Given the description of an element on the screen output the (x, y) to click on. 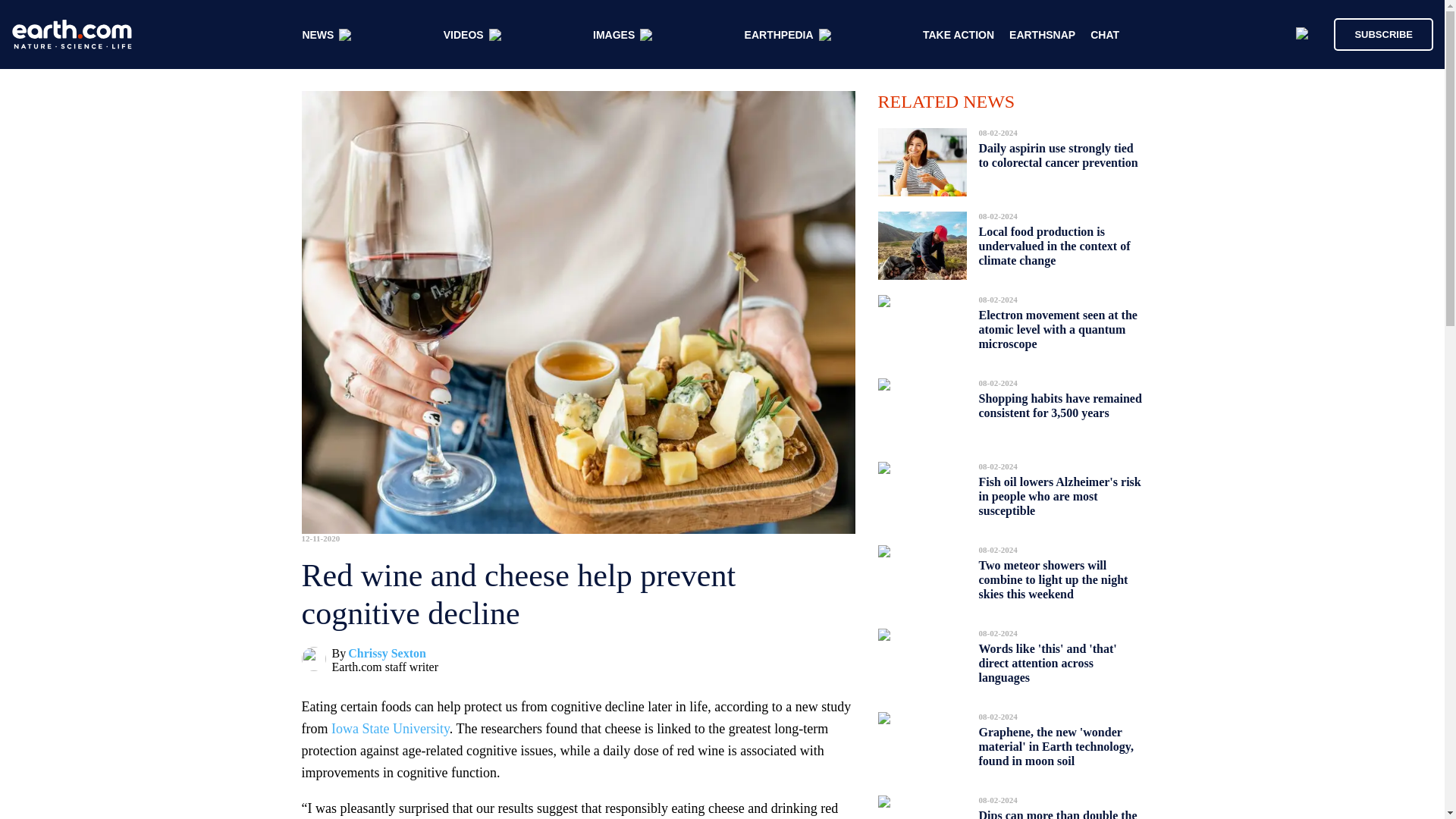
SUBSCRIBE (1375, 33)
TAKE ACTION (958, 34)
SUBSCRIBE (1382, 34)
Chrissy Sexton (386, 653)
EARTHSNAP (1042, 34)
CHAT (1104, 34)
Shopping habits have remained consistent for 3,500 years (1059, 405)
